Given the description of an element on the screen output the (x, y) to click on. 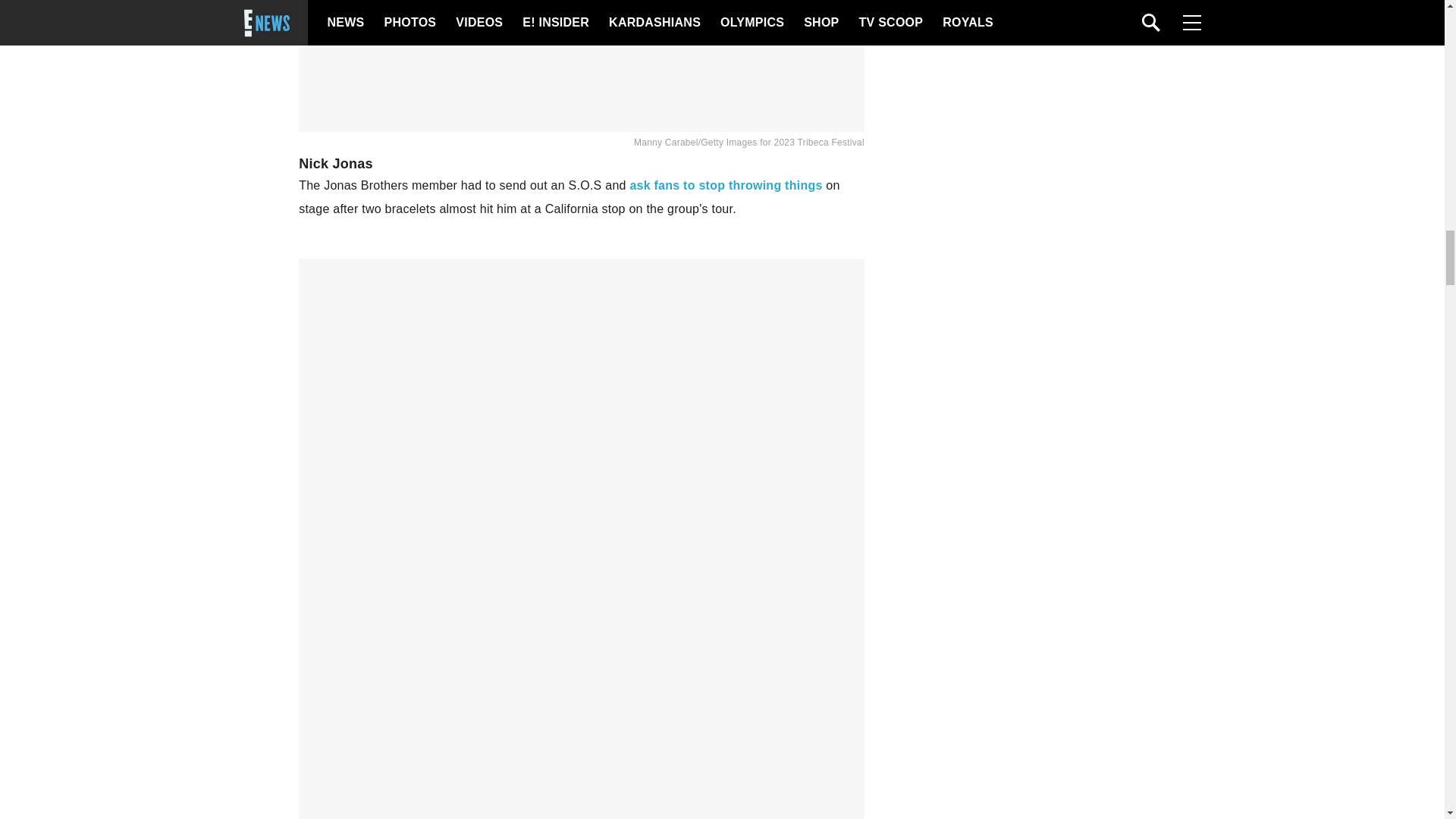
ask fans to stop throwing things (725, 185)
